Given the description of an element on the screen output the (x, y) to click on. 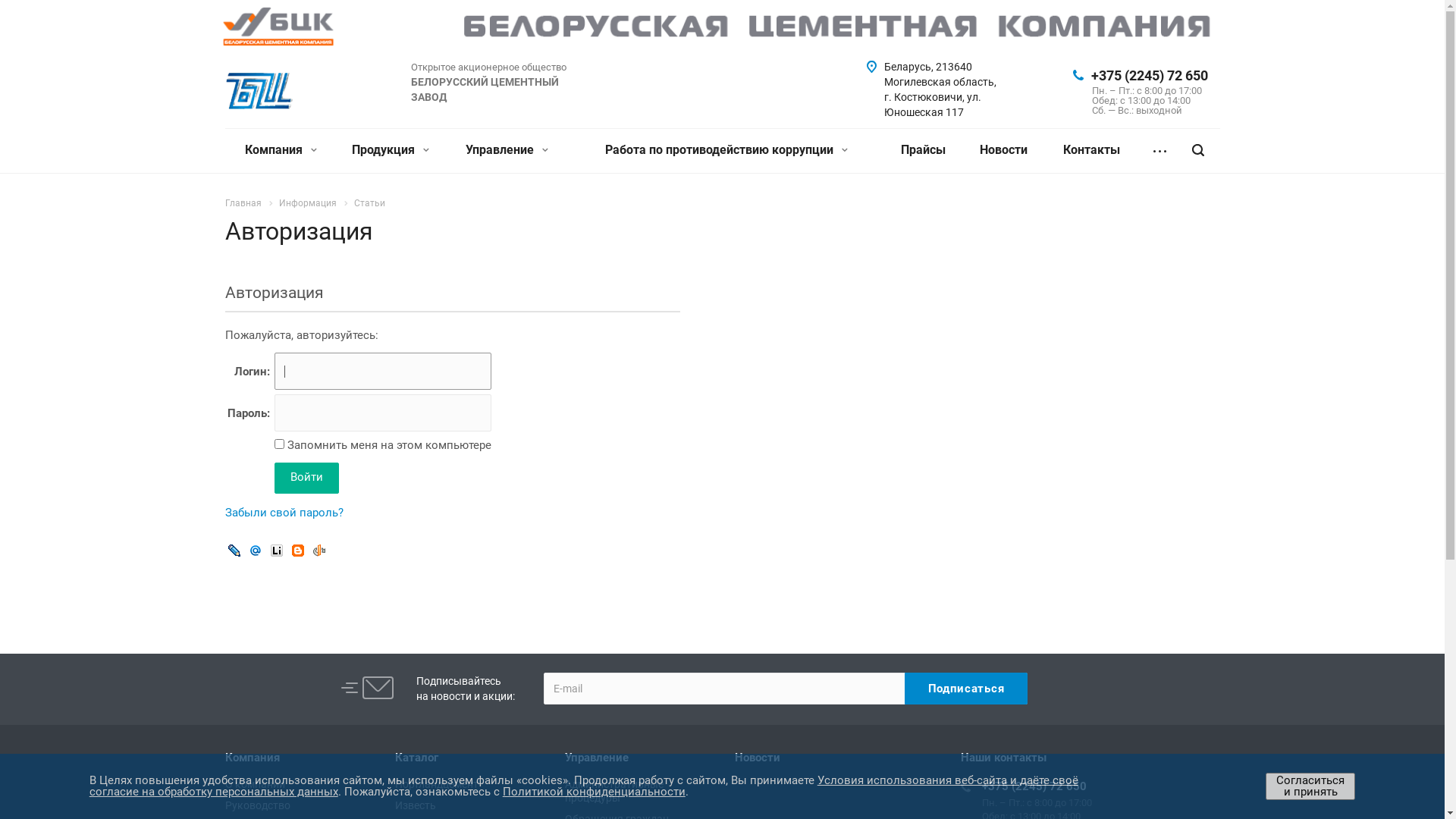
+375 (2245) 72 650 Element type: text (1148, 75)
Blogger Element type: hover (297, 549)
Liveinternet Element type: hover (276, 549)
Mail.Ru OpenID Element type: hover (255, 549)
OpenID Element type: hover (318, 549)
Livejournal Element type: hover (233, 549)
+375 (2245) 72 650 Element type: text (1034, 786)
